Given the description of an element on the screen output the (x, y) to click on. 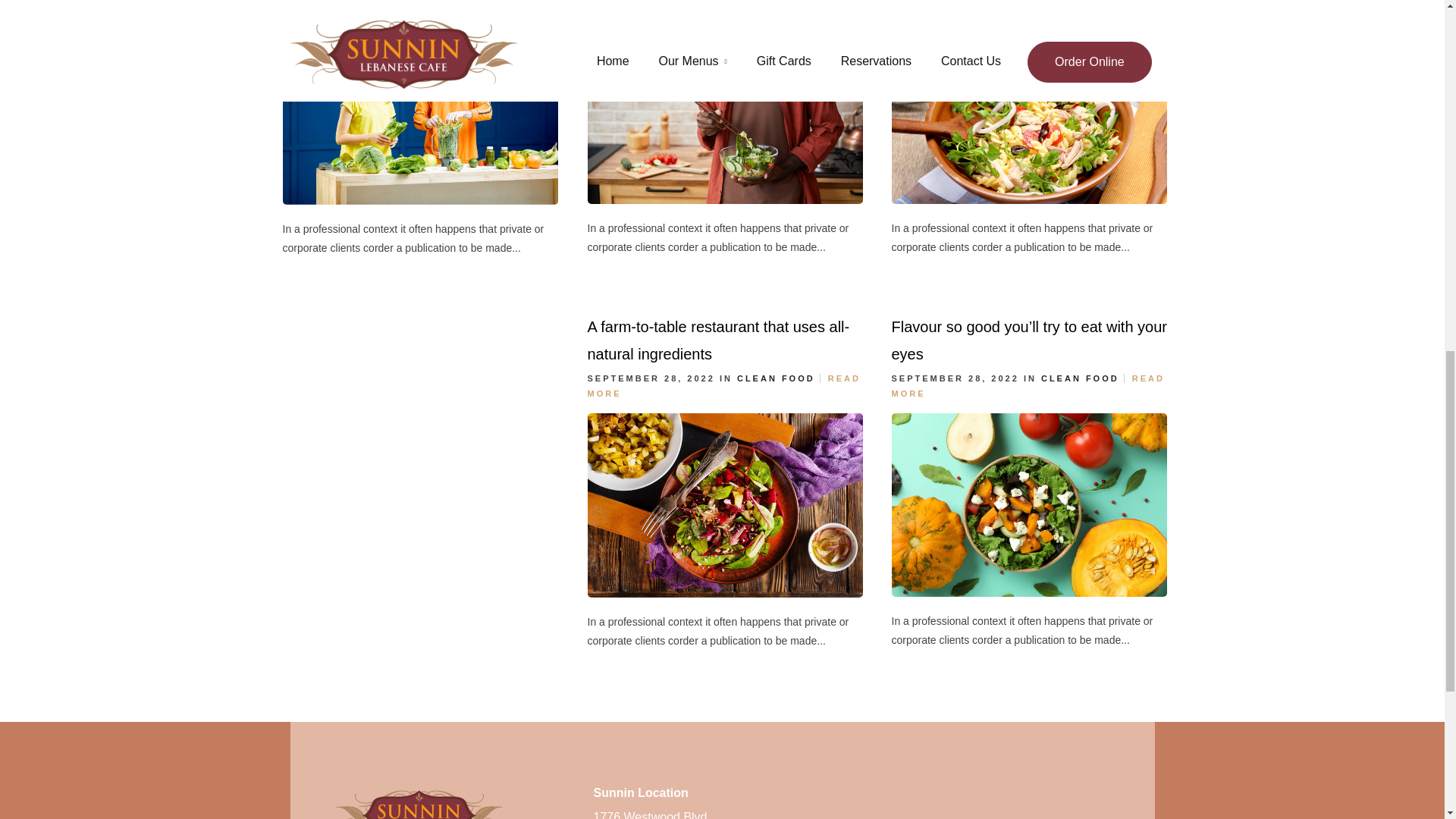
CLEAN FOOD (1080, 378)
READ MORE (1027, 385)
READ MORE (1027, 2)
A farm-to-table restaurant that uses all-natural ingredients (717, 340)
READ MORE (418, 2)
CLEAN FOOD (775, 378)
READ MORE (723, 385)
A farm-to-table restaurant that uses all-natural ingredients (717, 340)
READ MORE (723, 2)
